Given the description of an element on the screen output the (x, y) to click on. 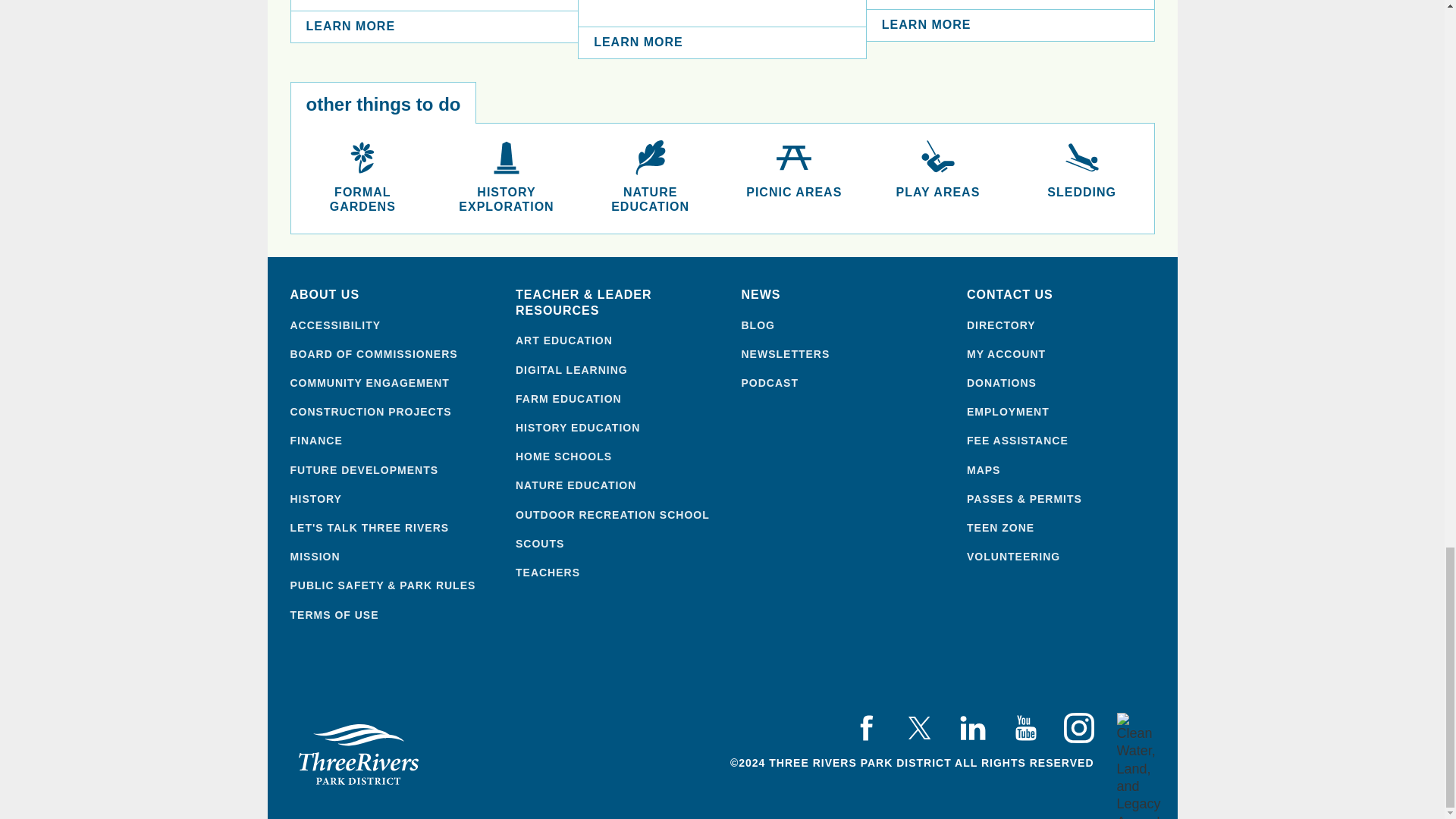
About Us (391, 295)
Fee Assistance (1068, 440)
LEARN MORE (434, 26)
LEARN MORE (1010, 24)
Three Rivers Park District website terms of use (391, 614)
List of board members (391, 354)
Volunteer, job and internship opportunities for teens. (1068, 527)
The Wandering Naturalist, the Three Rivers podcast (842, 382)
Share feedback on active planning projects. (391, 527)
